Given the description of an element on the screen output the (x, y) to click on. 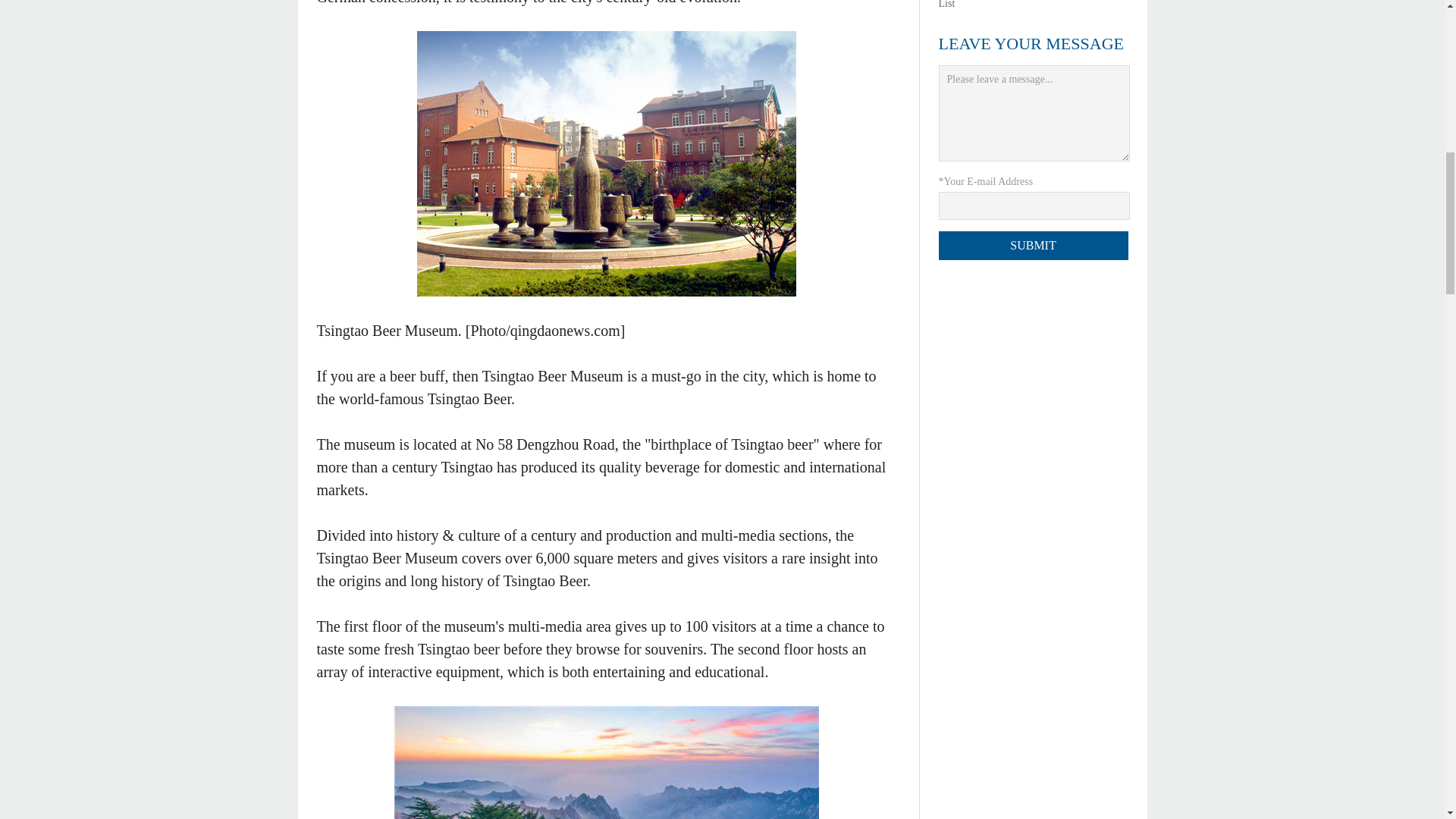
LEAVE YOUR MESSAGE (1031, 43)
1536048245622094753.png (606, 762)
Submit (1033, 245)
Submit (1033, 245)
1536048202551071802.png (606, 163)
